Given the description of an element on the screen output the (x, y) to click on. 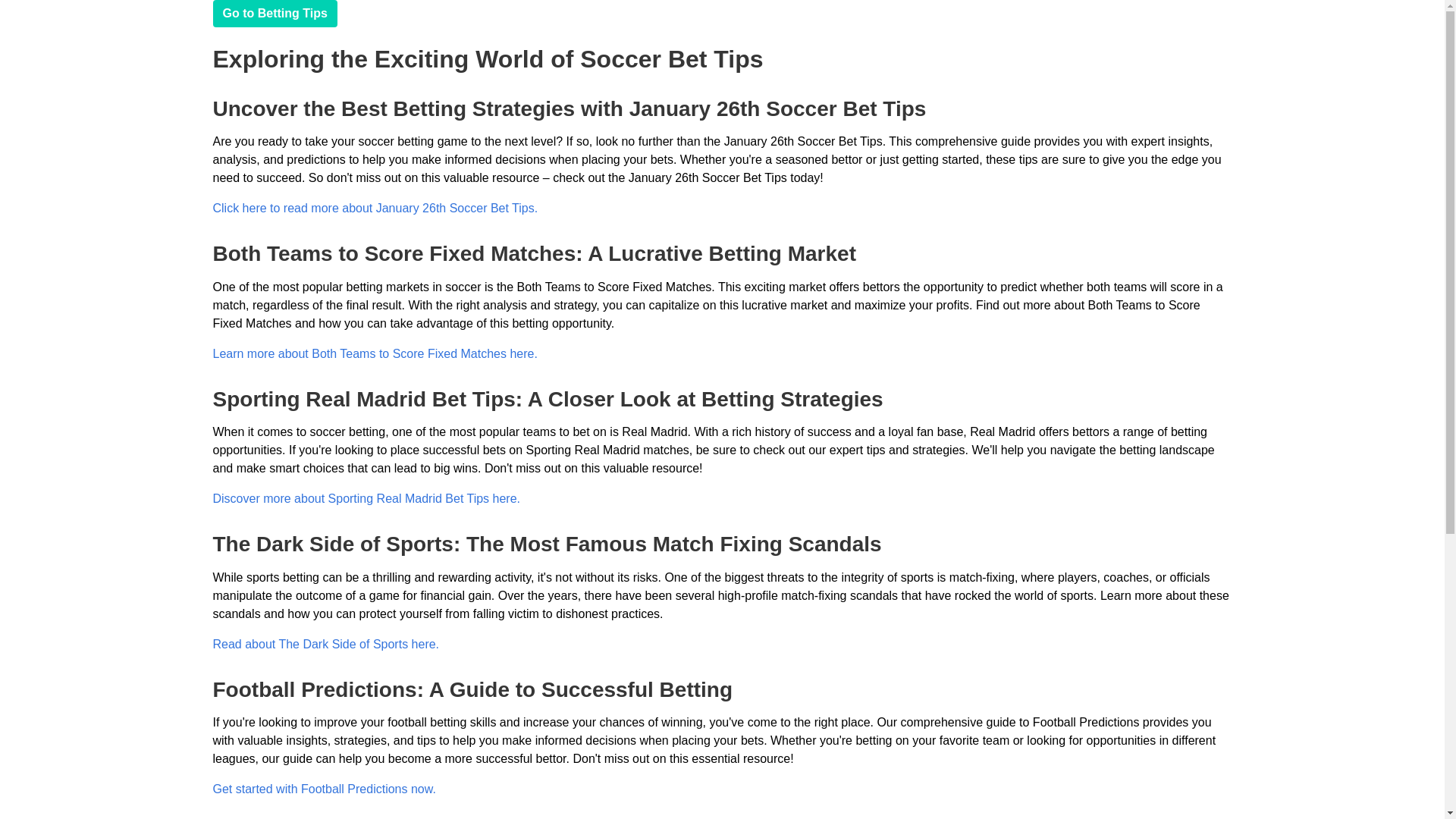
play (274, 13)
Discover more about Sporting Real Madrid Bet Tips here. (365, 498)
Learn more about Both Teams to Score Fixed Matches here. (374, 353)
Read about The Dark Side of Sports here. (325, 644)
Get started with Football Predictions now. (323, 788)
Go to Betting Tips (274, 13)
Click here to read more about January 26th Soccer Bet Tips. (374, 207)
